Given the description of an element on the screen output the (x, y) to click on. 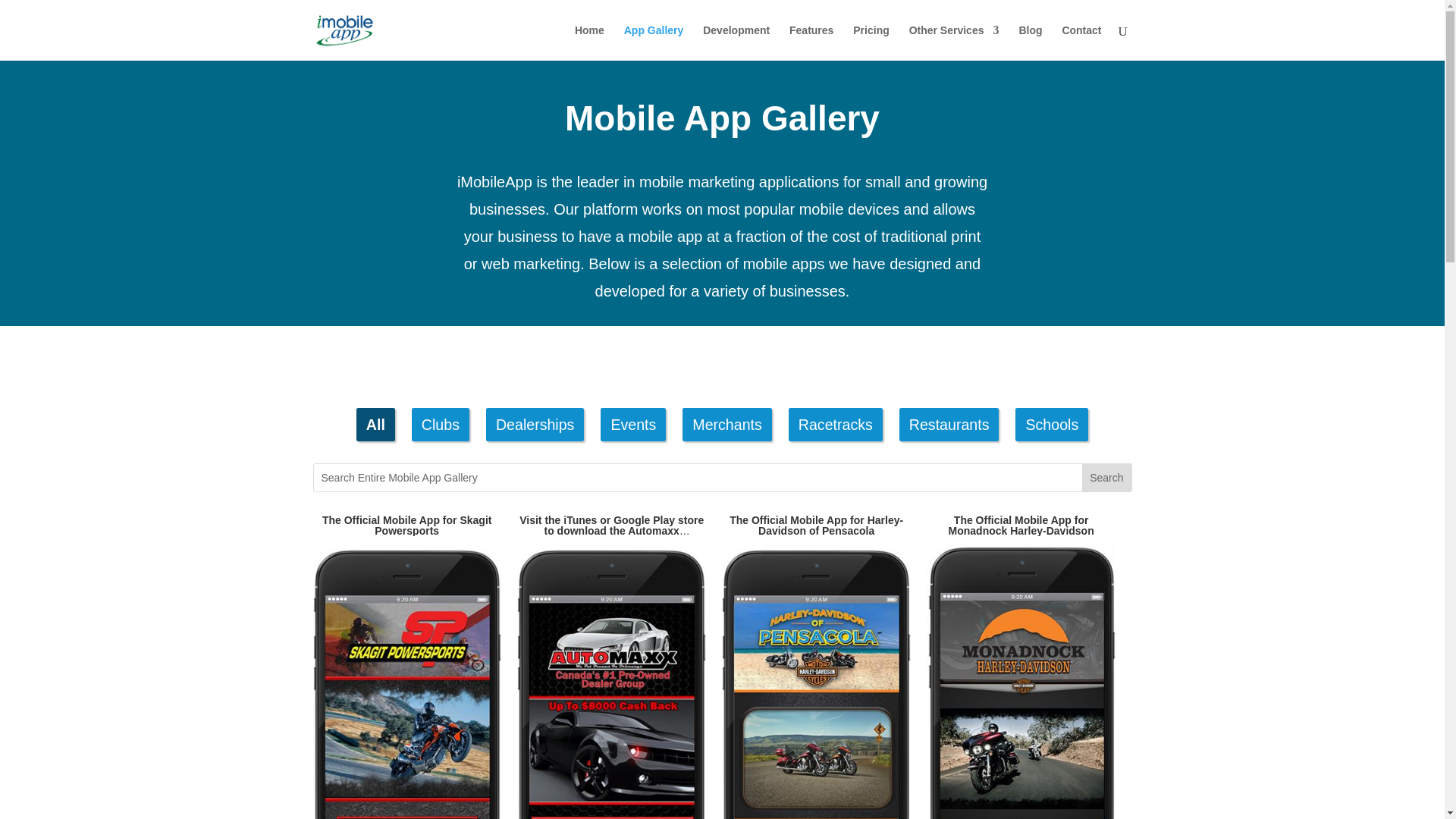
Pricing (870, 42)
All (375, 424)
Search (1106, 477)
Search (1106, 477)
Home (589, 42)
Clubs (440, 424)
Schools (1050, 424)
Features (810, 42)
Restaurants (948, 424)
Contact (1080, 42)
App Gallery (654, 42)
Events (632, 424)
Racetracks (835, 424)
Development (736, 42)
Other Services (953, 42)
